Given the description of an element on the screen output the (x, y) to click on. 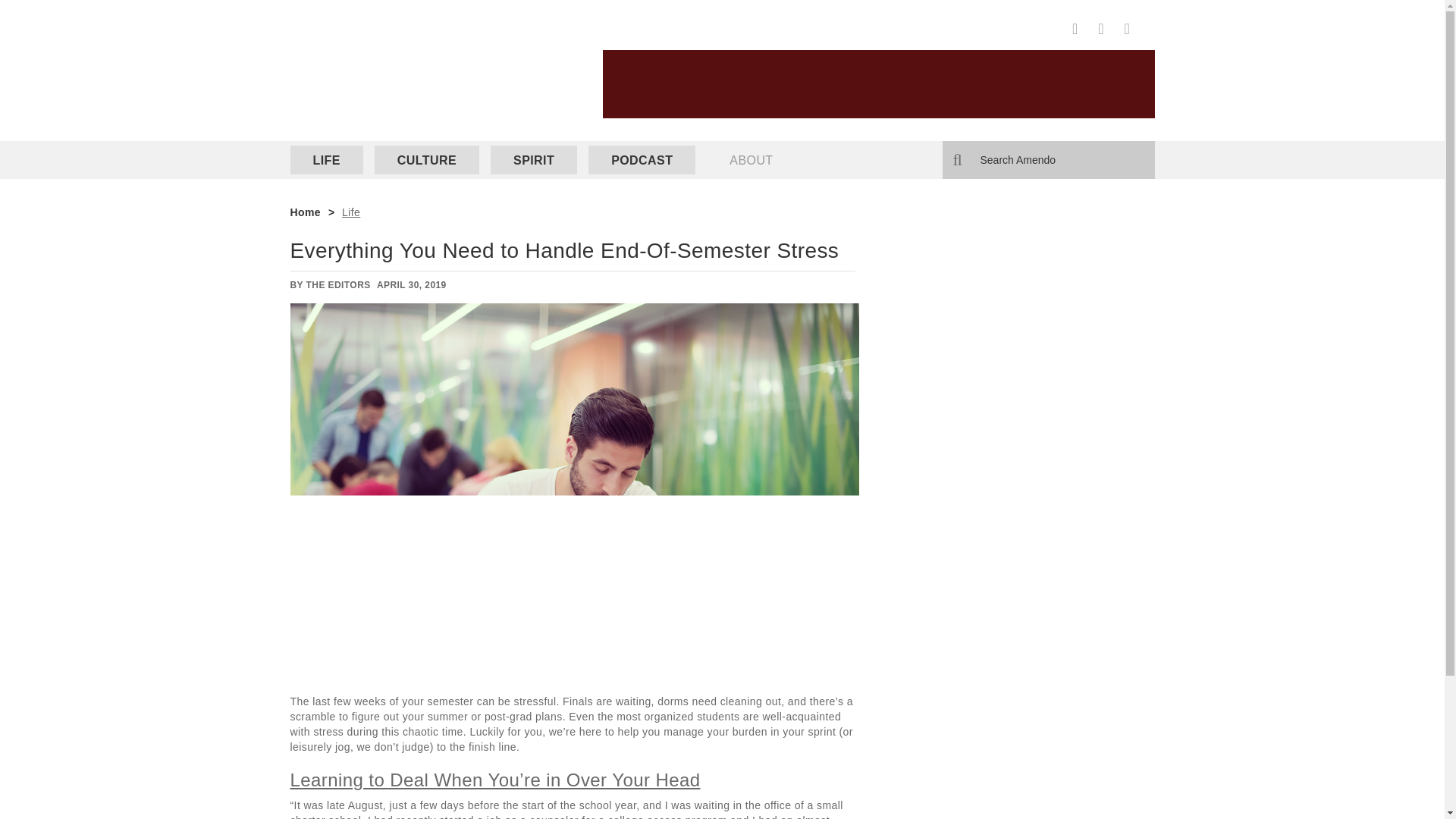
Search for: (1048, 159)
ABOUT (750, 159)
PODCAST (641, 159)
Life (350, 212)
Home (304, 212)
SPIRIT (533, 159)
LIFE (325, 159)
